Given the description of an element on the screen output the (x, y) to click on. 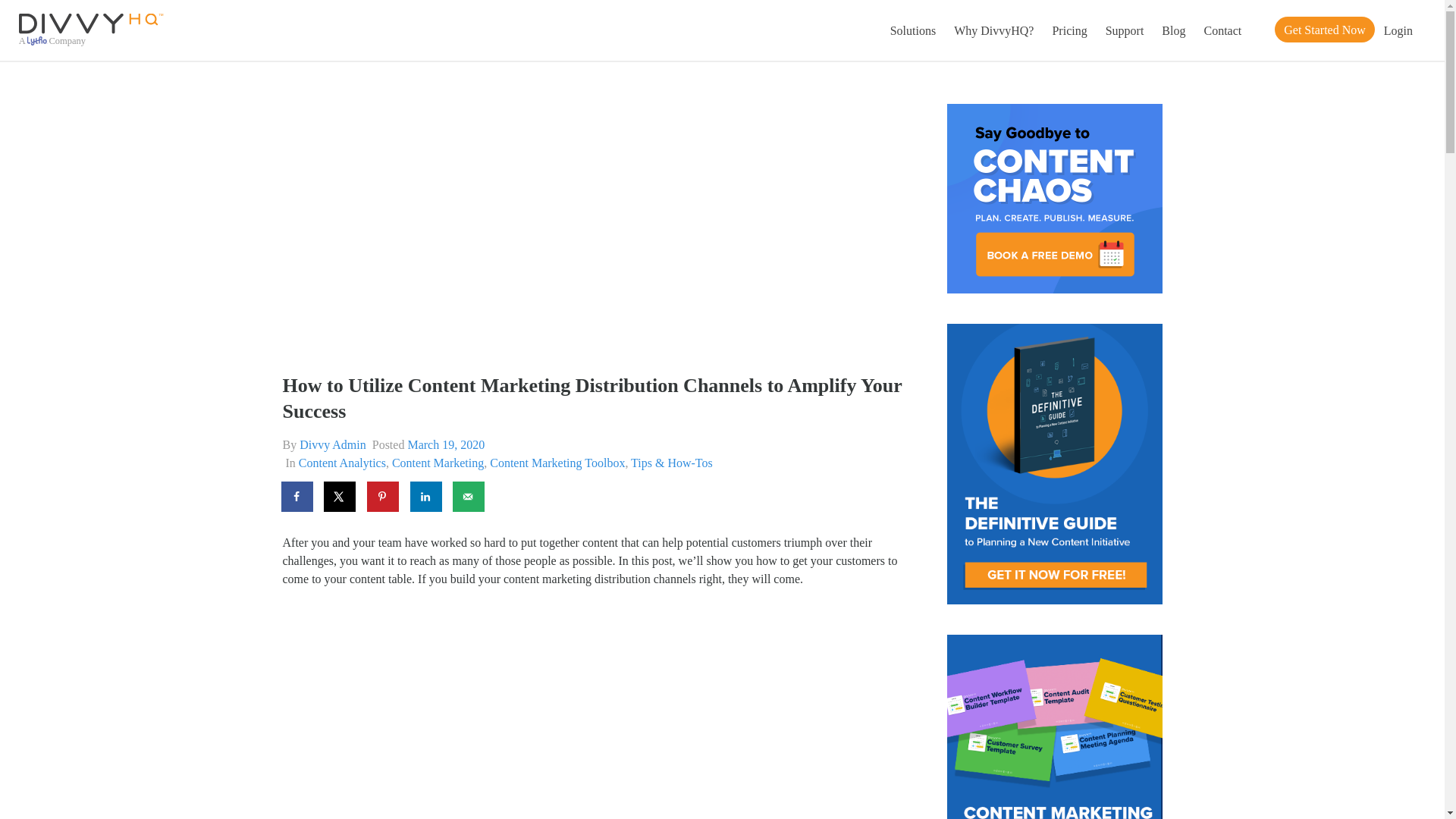
Blog (1173, 31)
Pricing (1069, 31)
Share on Facebook (297, 496)
Contact (1221, 31)
Share on X (339, 496)
Support (1124, 31)
Get Started Now (1324, 29)
Save to Pinterest (383, 496)
Login (1398, 31)
Support (1124, 31)
Contact (1221, 31)
Divvy Admin (332, 444)
Posts by Divvy Admin (332, 444)
